Given the description of an element on the screen output the (x, y) to click on. 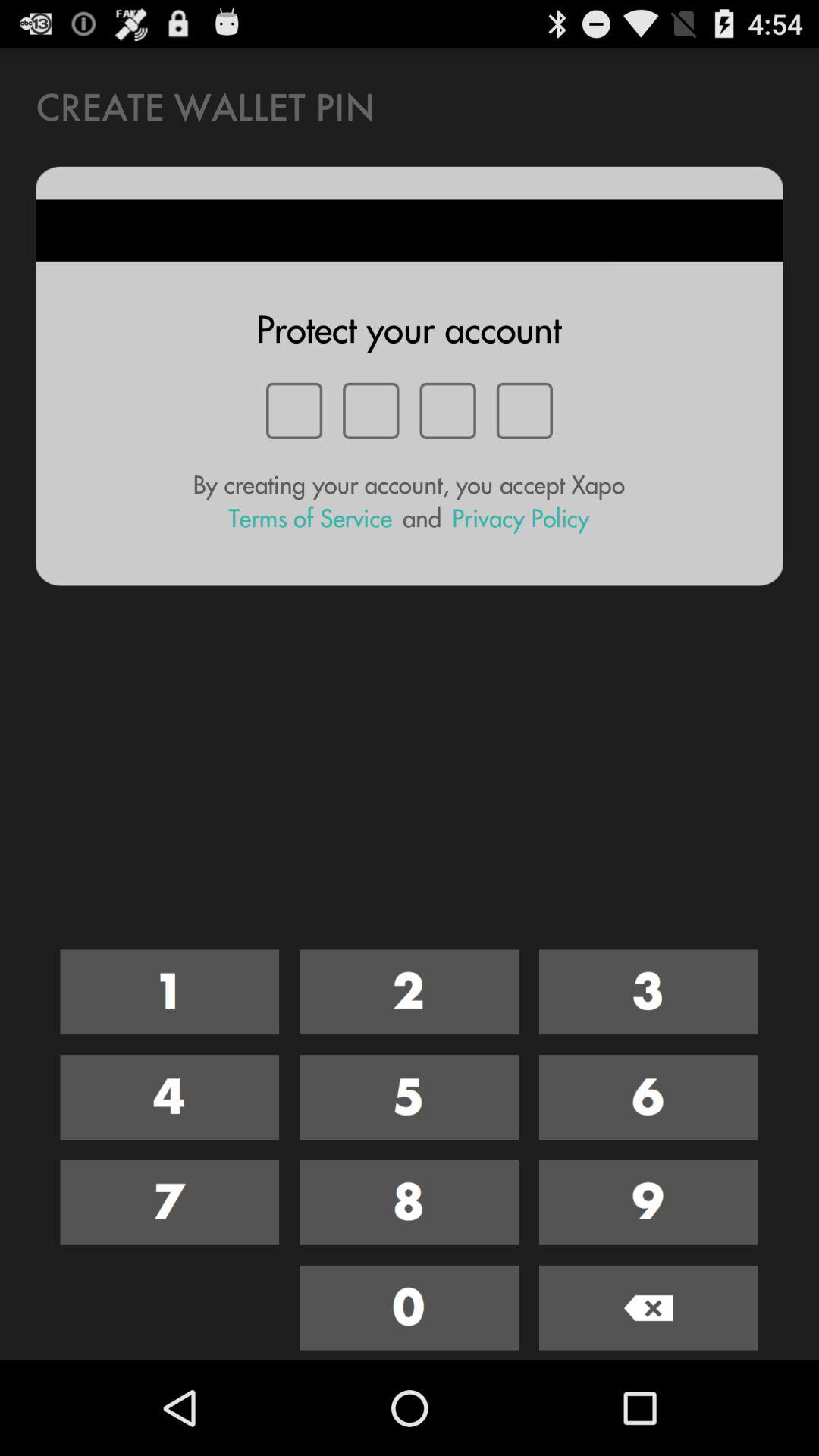
select the number 9 (648, 1202)
